Given the description of an element on the screen output the (x, y) to click on. 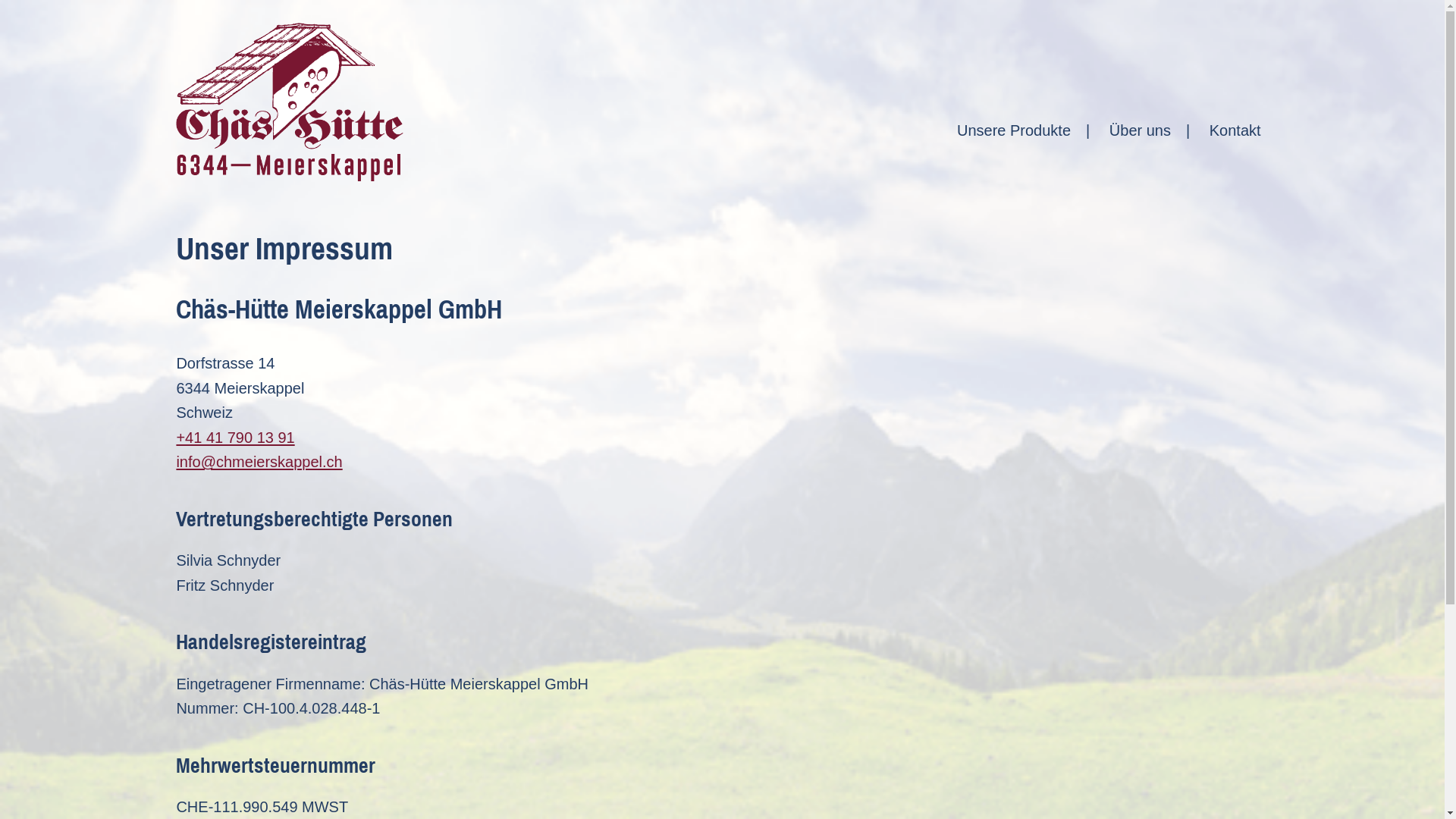
+41 41 790 13 91 Element type: text (234, 437)
info@chmeierskappel.ch Element type: text (258, 461)
Unsere Produkte Element type: text (1013, 130)
Kontakt Element type: text (1235, 130)
